Given the description of an element on the screen output the (x, y) to click on. 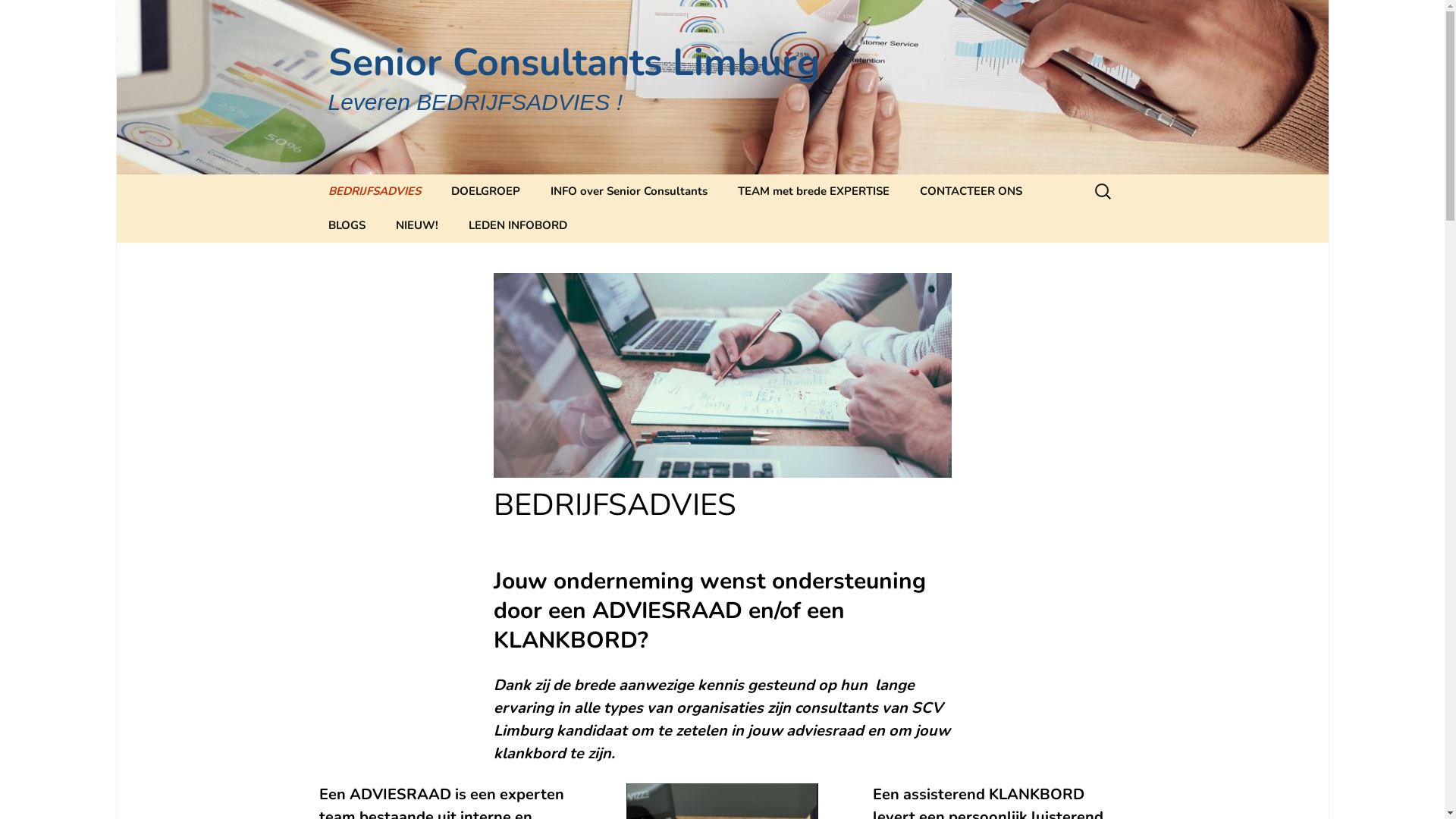
ADVIESRAAD Element type: text (401, 794)
NIEUW! Element type: text (416, 225)
BEDRIJFSADVIES Element type: text (373, 191)
CONTACTEER ONS Element type: text (969, 191)
Zoeken Element type: text (18, 17)
Spring naar inhoud Element type: text (312, 173)
DOELGROEP Element type: text (484, 191)
KLANKBORD Element type: text (1036, 794)
LEDEN INFOBORD Element type: text (517, 225)
TEAM met brede EXPERTISE Element type: text (812, 191)
Senior Consultants Limburg
Leveren BEDRIJFSADVIES ! Element type: text (721, 87)
INFO over Senior Consultants Element type: text (628, 191)
BLOGS Element type: text (345, 225)
